Given the description of an element on the screen output the (x, y) to click on. 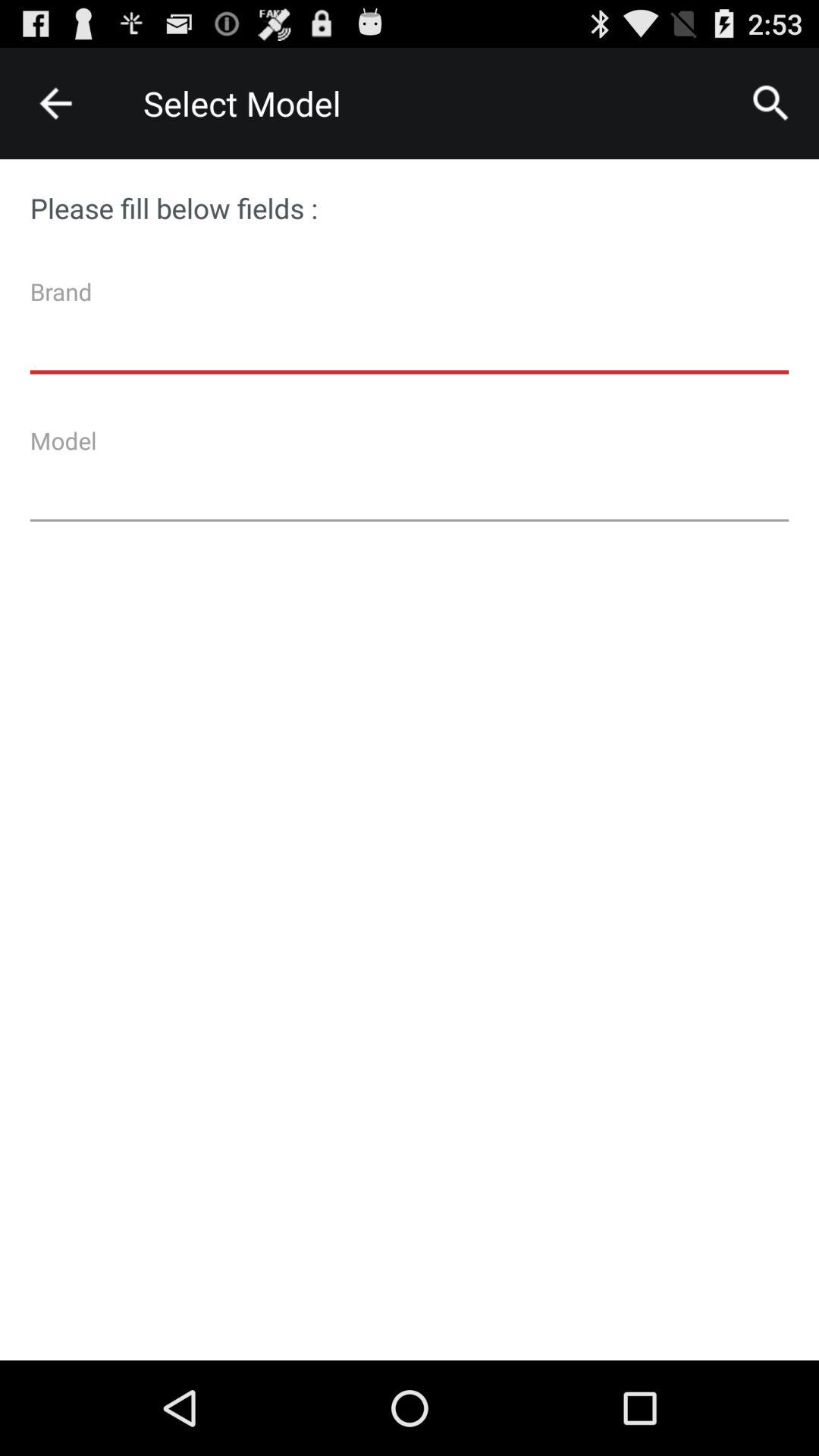
type brand name (409, 331)
